Given the description of an element on the screen output the (x, y) to click on. 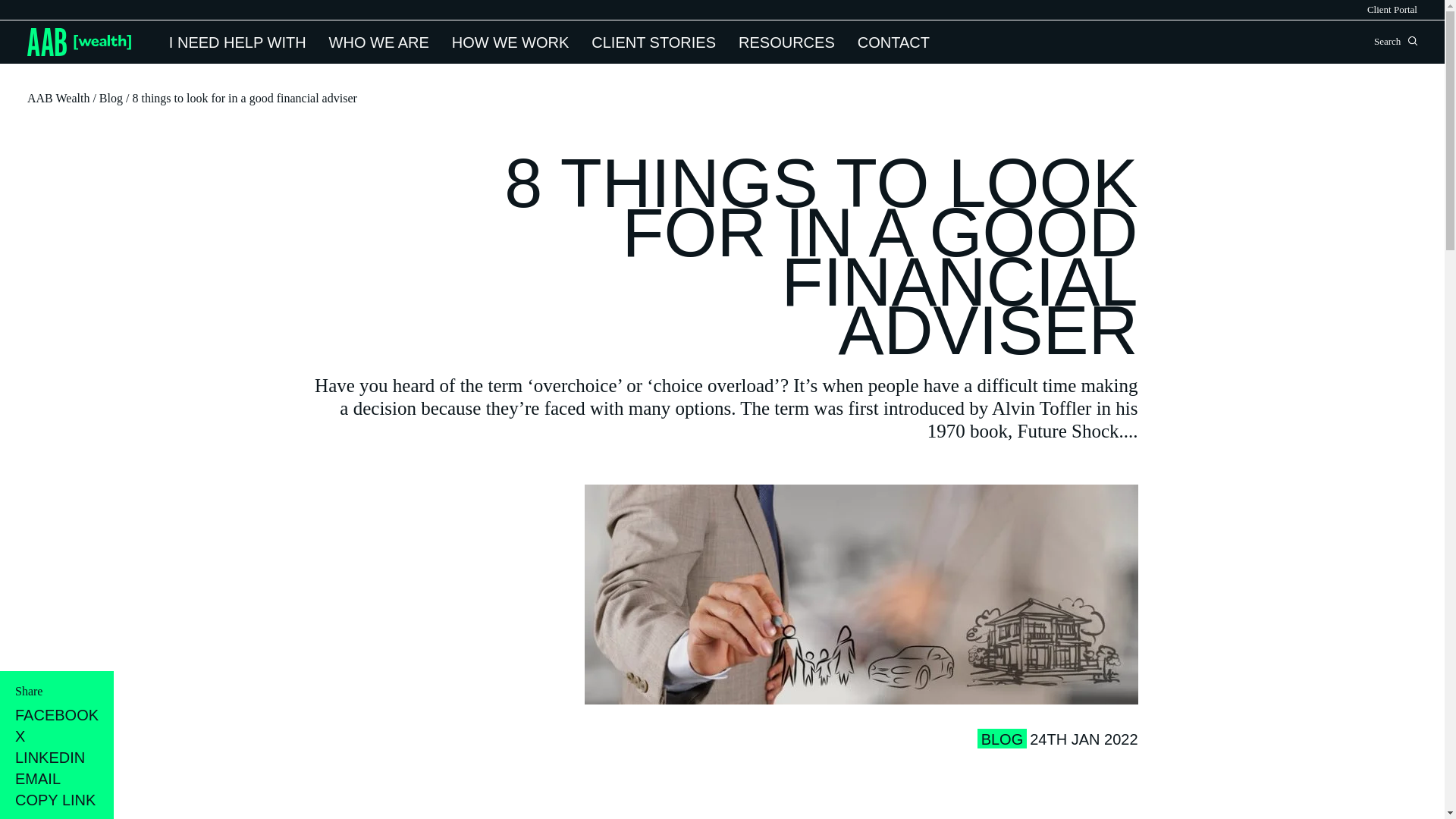
HOW WE WORK (510, 41)
Client Portal (1391, 9)
CONTACT (893, 41)
AAB Wealth (79, 41)
AAB Wealth (57, 97)
LINKEDIN (56, 757)
FACEBOOK (56, 714)
Search (1411, 40)
WHO WE ARE (379, 41)
Search (1411, 40)
Blog (110, 97)
CLIENT STORIES (653, 41)
RESOURCES (786, 41)
EMAIL (56, 778)
X (56, 735)
